Given the description of an element on the screen output the (x, y) to click on. 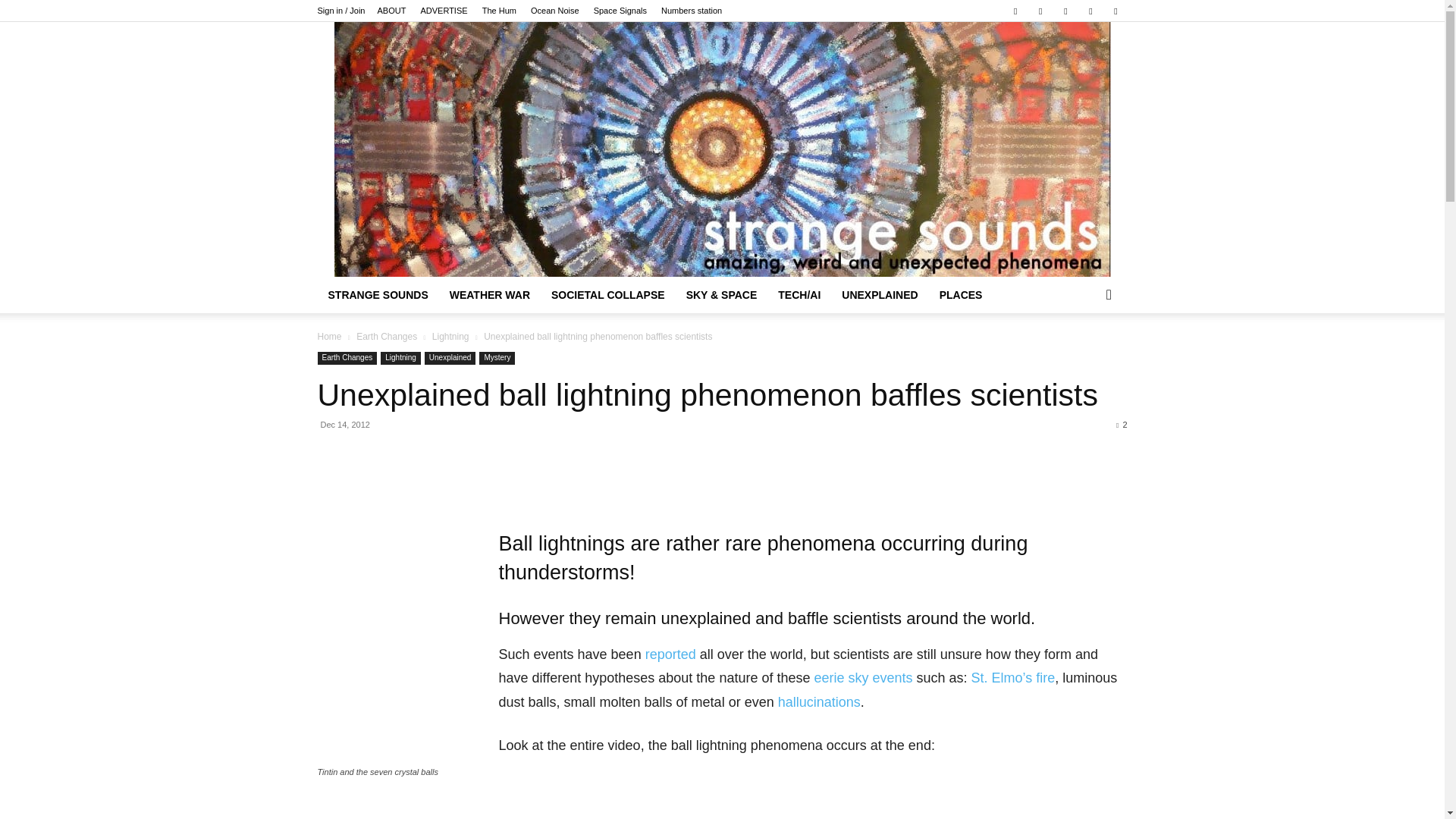
The Hum mysterious phenomenon (498, 10)
ABOUT (391, 10)
The Hum (498, 10)
Facebook (1015, 10)
About Strange Sounds (391, 10)
Space Signals (620, 10)
Numbers station (691, 10)
Unexplained sounds of the deep ocean (555, 10)
Ocean Noise (555, 10)
ADVERTISE ON STRANGE SOUNDS (443, 10)
